Given the description of an element on the screen output the (x, y) to click on. 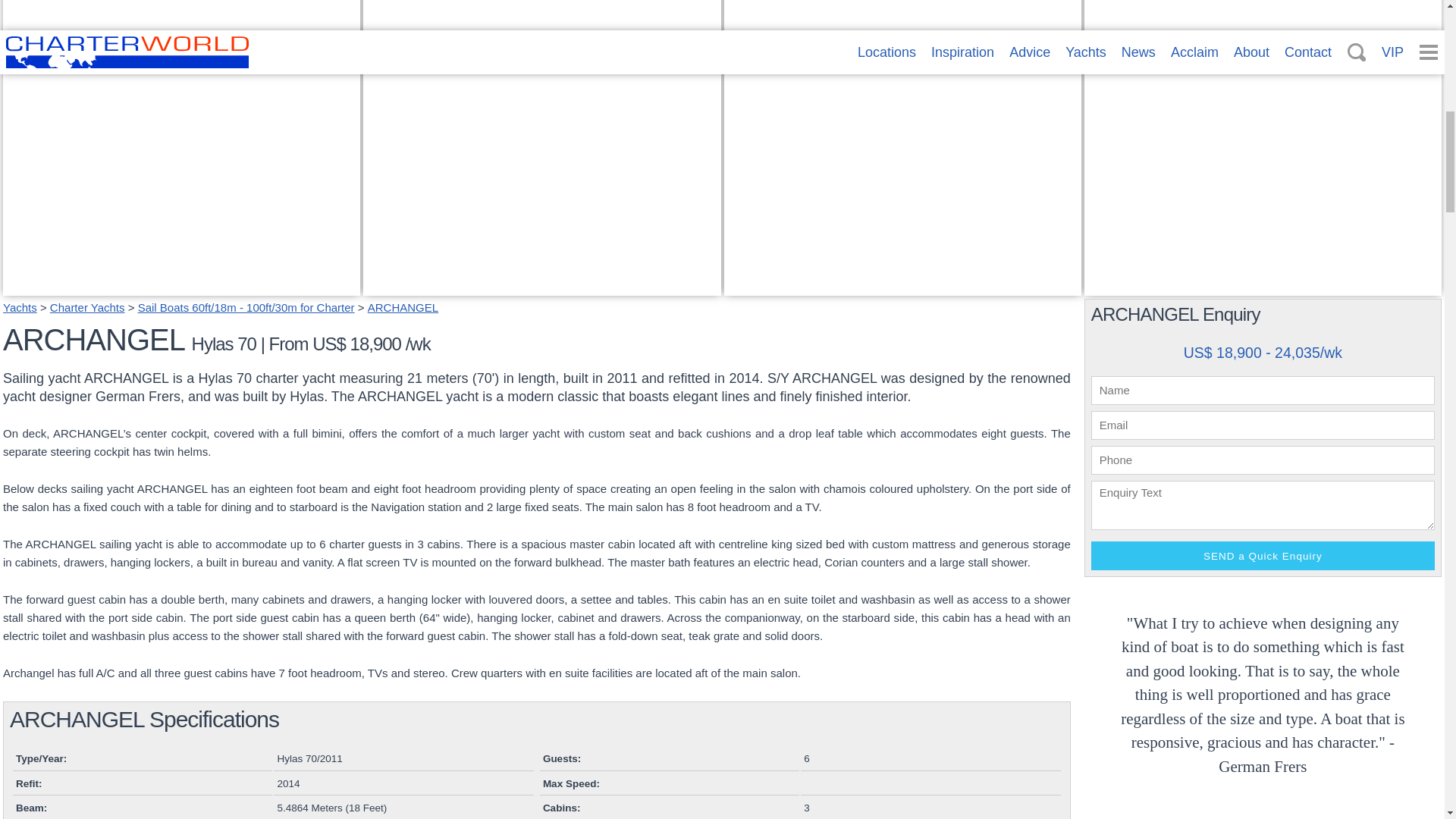
GMT Composites Carbon Fiber Mast chosen ... (901, 286)
ARCHANGEL (403, 307)
Yachts (19, 307)
SEND a Quick Enquiry (1262, 555)
Charter Yachts (87, 307)
GMT Composites Carbon Fiber Mast chosen ... (863, 268)
Sailing yacht Archangel -  Main (180, 286)
FAR BAY (1262, 286)
FAR BAY (1117, 268)
Virgin Gorda (405, 268)
Sailing yacht Archangel -  Main (180, 286)
Virgin Gorda (1262, 816)
